Given the description of an element on the screen output the (x, y) to click on. 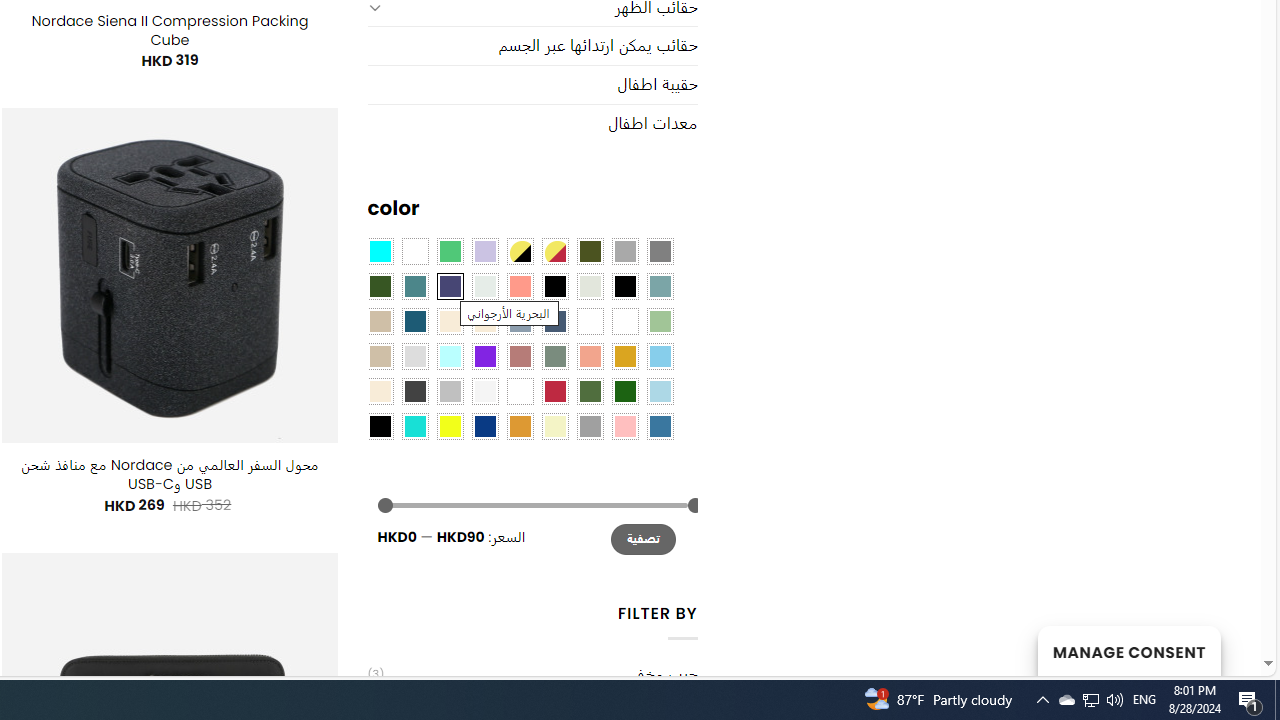
Yellow-Red (554, 251)
Light-Gray (414, 355)
Light Taupe (379, 355)
Forest (379, 285)
Light Purple (484, 251)
Dull Nickle (484, 285)
